Given the description of an element on the screen output the (x, y) to click on. 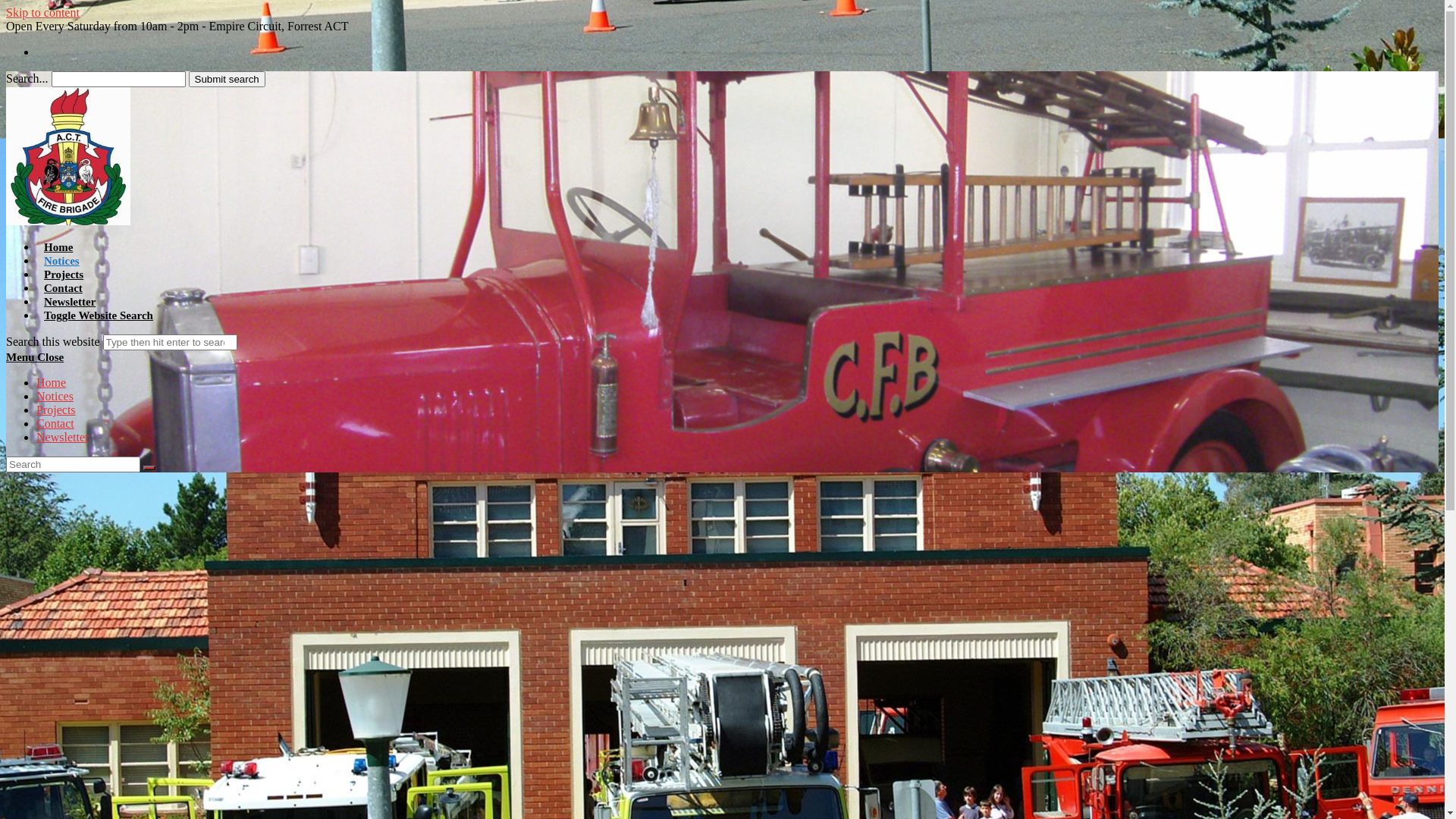
Contact Element type: text (63, 288)
Projects Element type: text (55, 409)
Projects Element type: text (63, 274)
Notices Element type: text (54, 395)
Skip to content Element type: text (42, 12)
Submit search Element type: text (226, 79)
Home Element type: text (50, 382)
Toggle Website Search Element type: text (98, 315)
Newsletter Element type: text (69, 301)
Newsletter Element type: text (62, 436)
Notices Element type: text (61, 260)
Menu Close Element type: text (34, 357)
Contact Element type: text (55, 423)
Home Element type: text (58, 247)
